Given the description of an element on the screen output the (x, y) to click on. 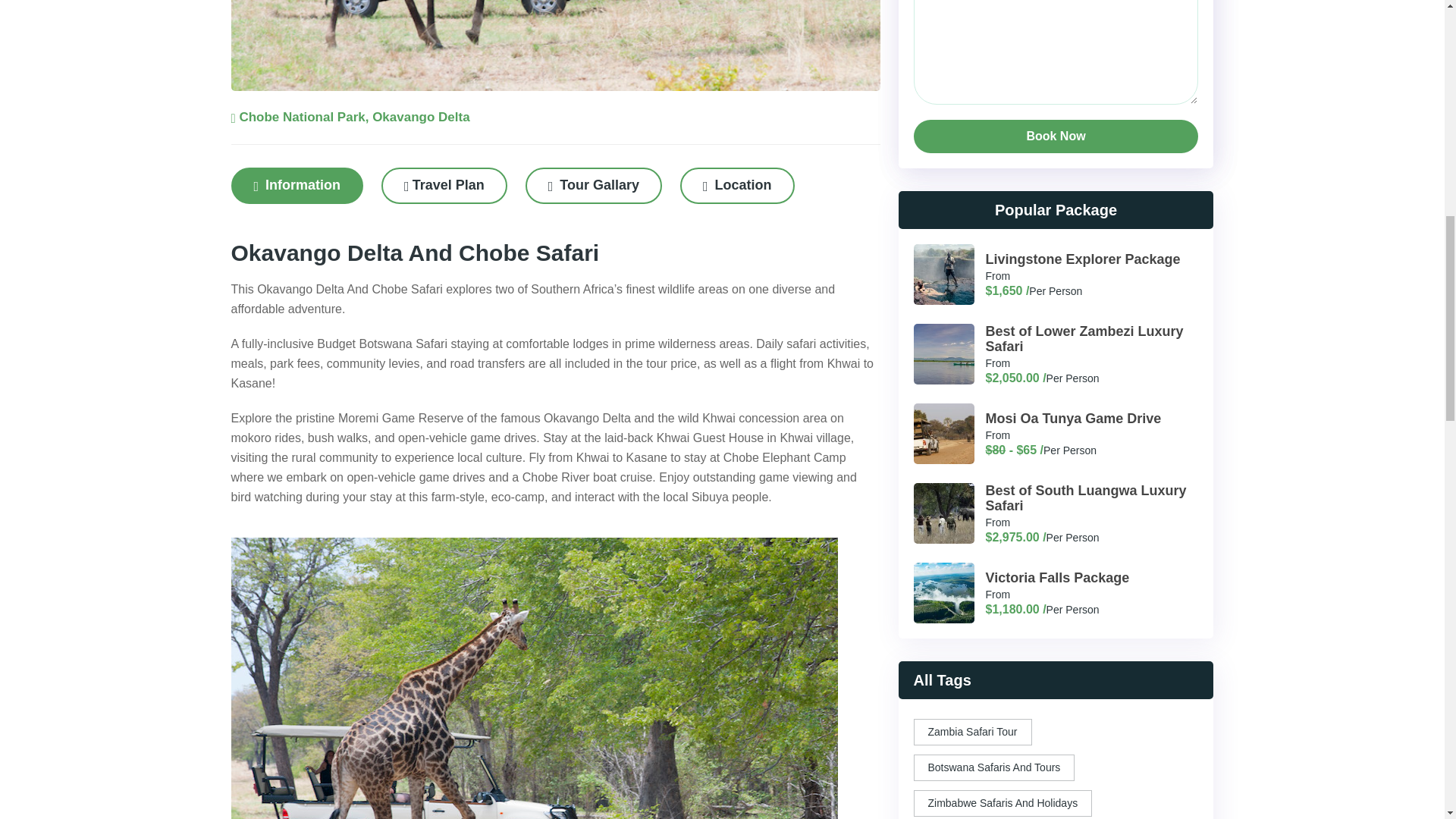
Tour Gallary (593, 185)
Book Now (1055, 136)
Travel Plan (443, 185)
Location (736, 185)
Best of Lower Zambezi Luxury Safari (1084, 338)
Information (296, 185)
Livingstone Explorer Package (1082, 258)
